Given the description of an element on the screen output the (x, y) to click on. 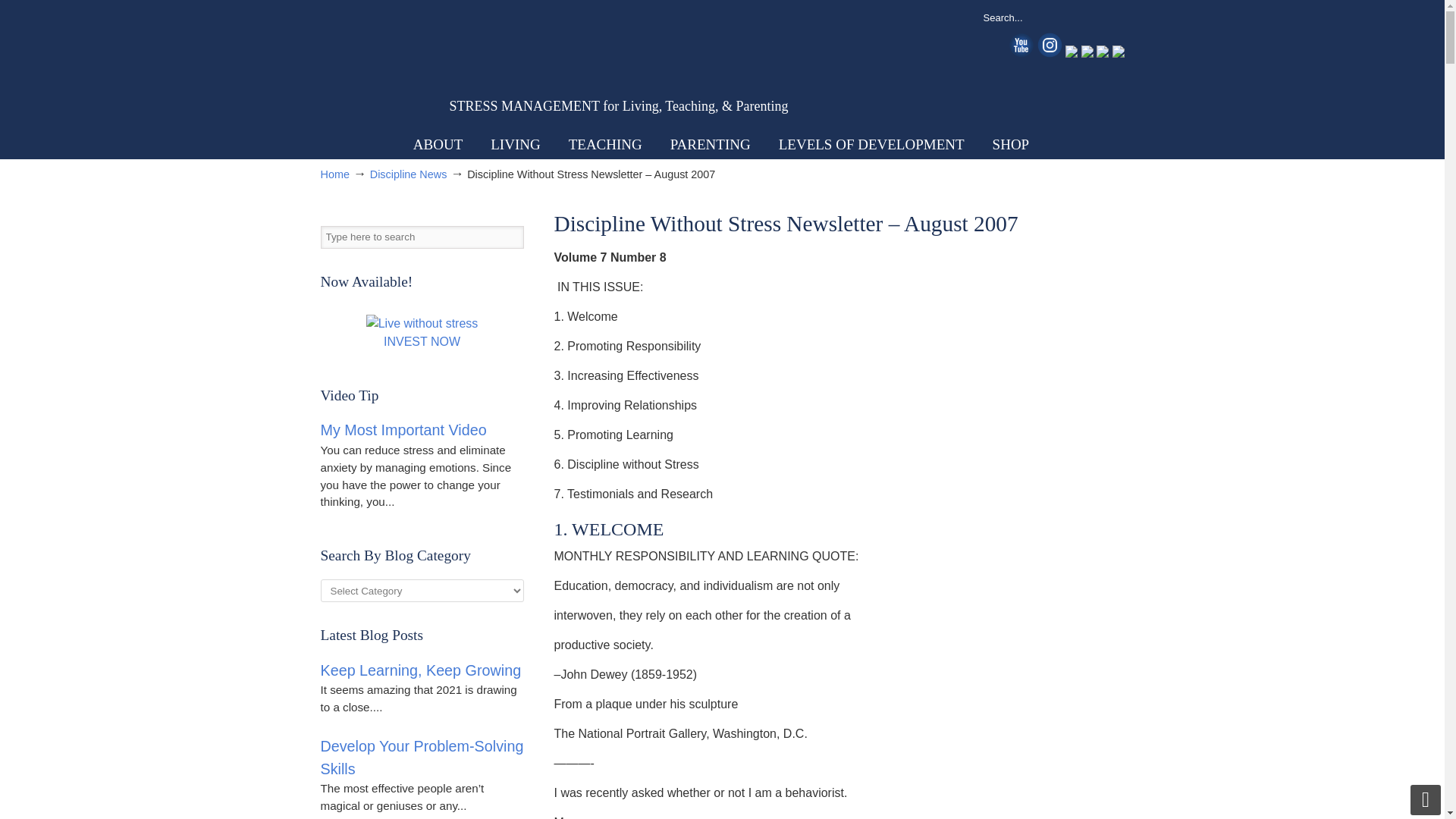
Develop Your Problem-Solving Skills (421, 757)
WithoutStress.com (428, 69)
Search (511, 236)
Search... (1032, 17)
My Most Important Video (403, 429)
ABOUT (437, 144)
search (1108, 17)
TEACHING (605, 144)
Keep Learning, Keep Growing (420, 669)
PARENTING (710, 144)
